Given the description of an element on the screen output the (x, y) to click on. 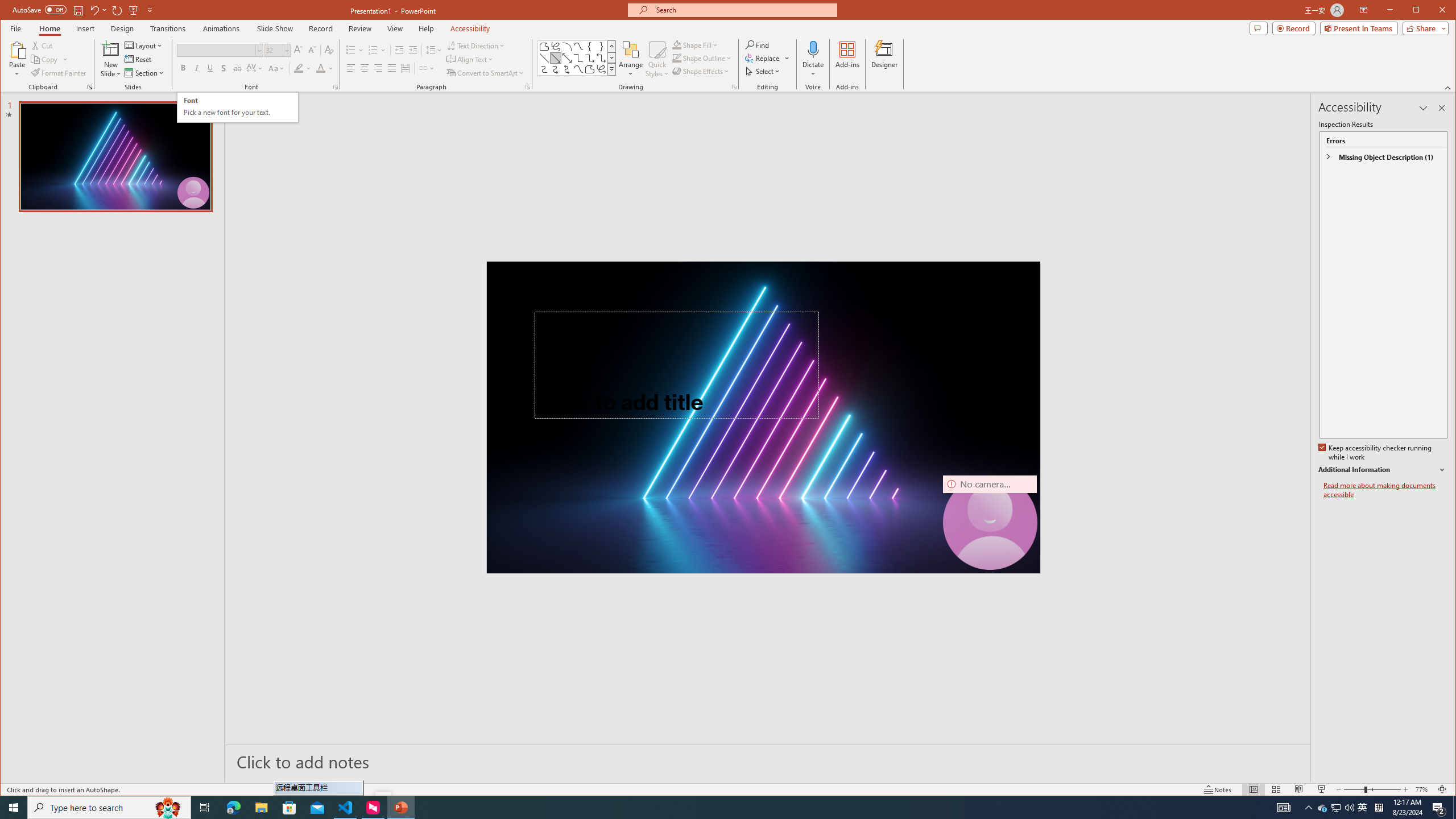
Connector: Curved (544, 69)
Read more about making documents accessible (1385, 489)
